Given the description of an element on the screen output the (x, y) to click on. 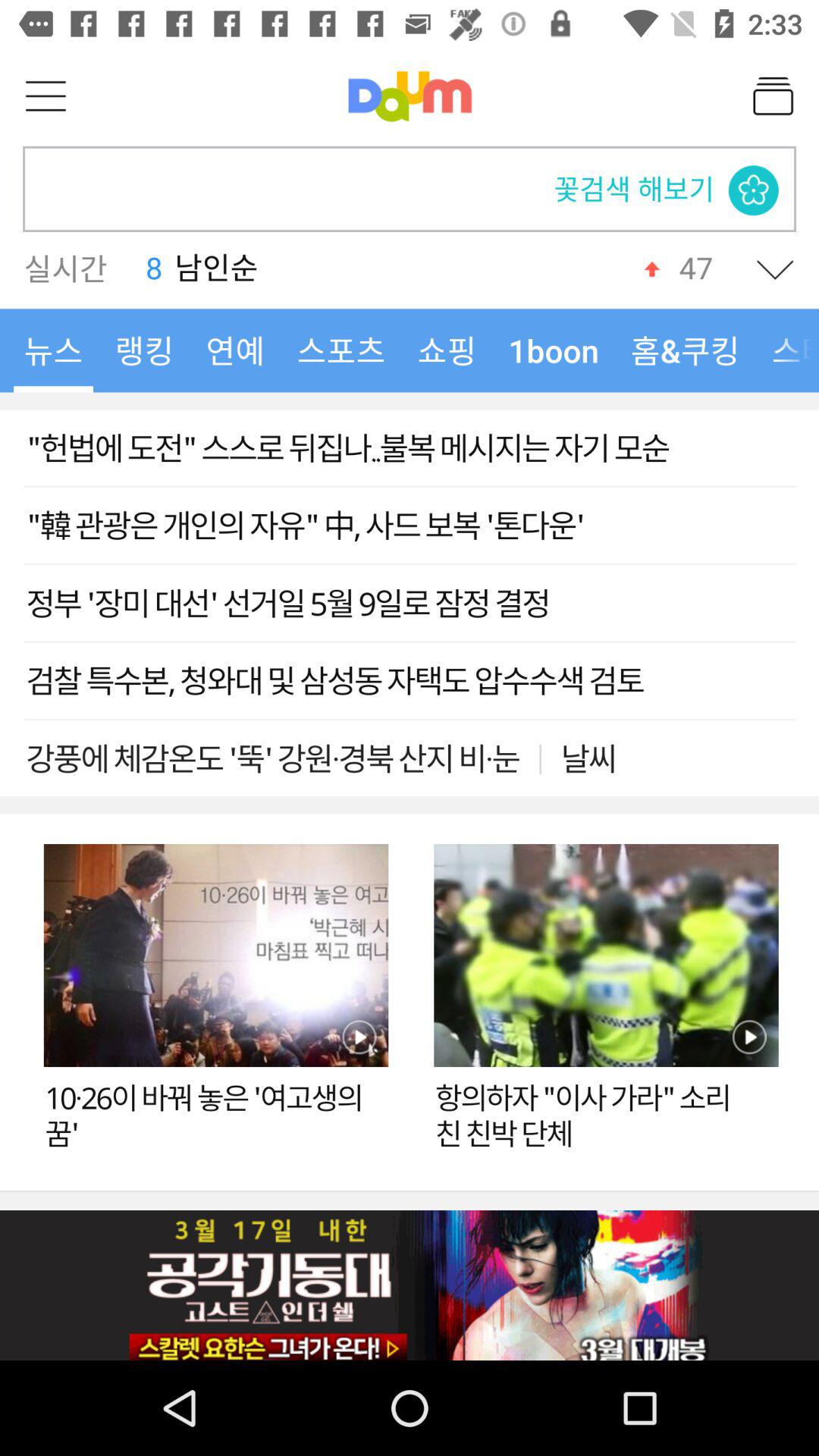
select the button which is right to the number 47 (775, 268)
